Given the description of an element on the screen output the (x, y) to click on. 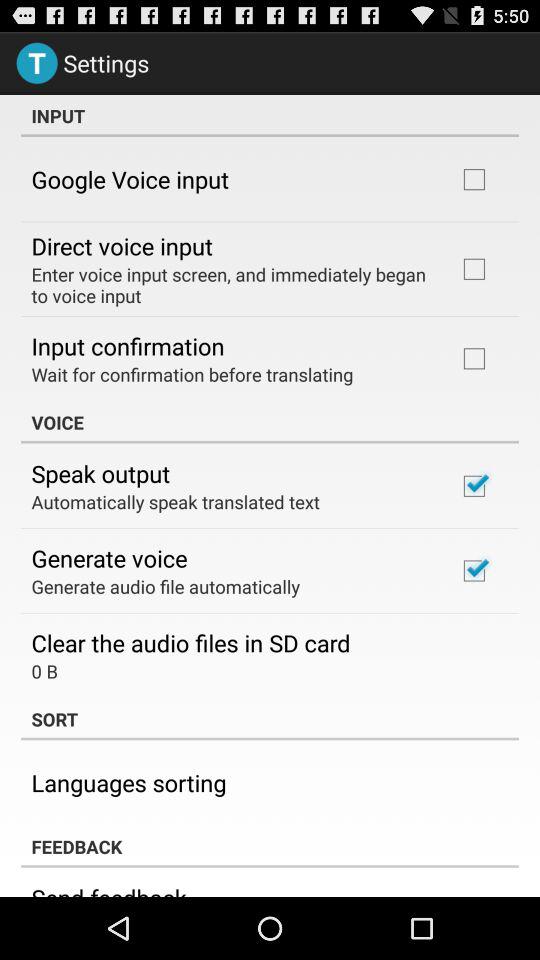
choose input confirmation item (127, 345)
